Given the description of an element on the screen output the (x, y) to click on. 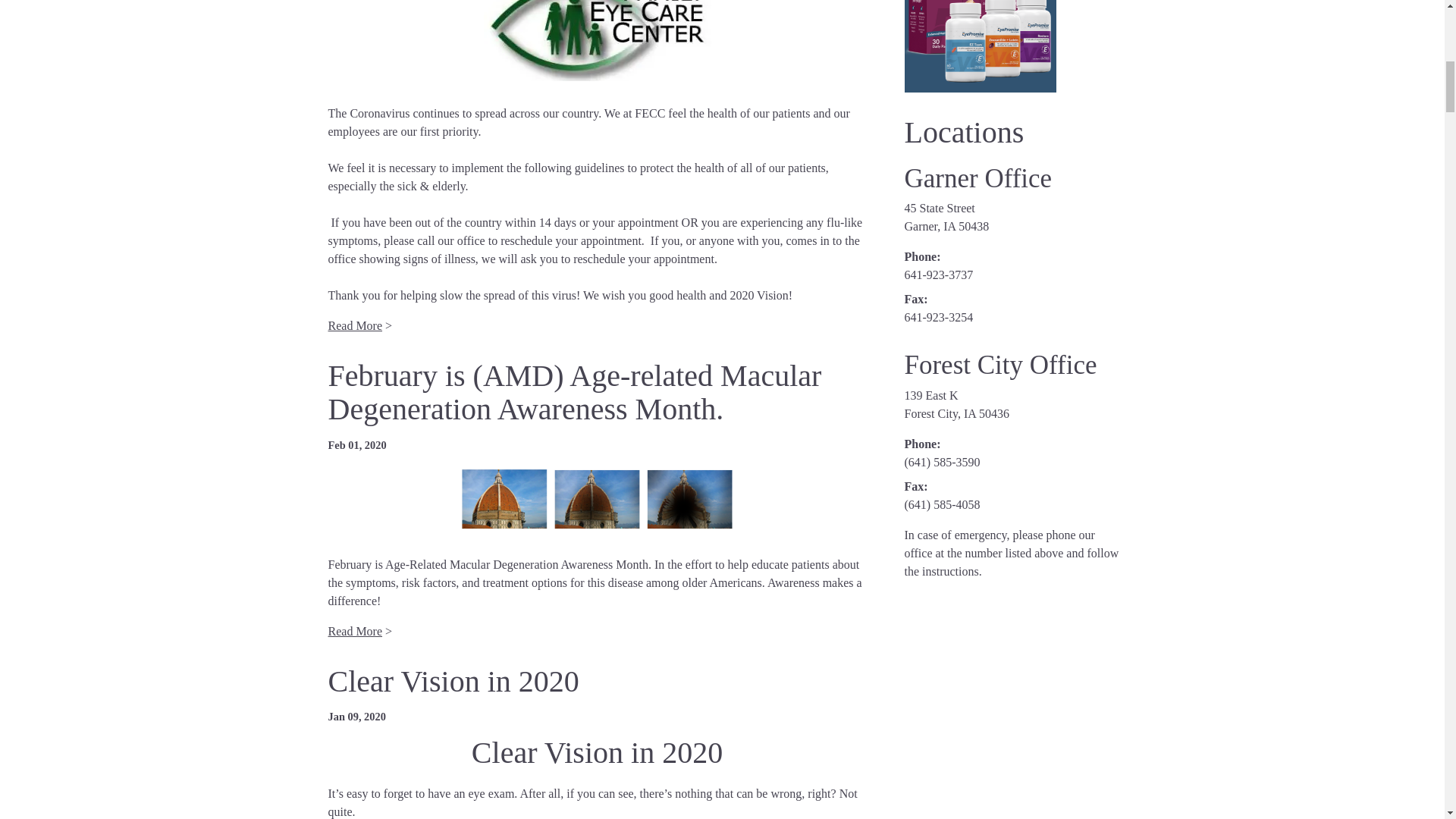
Read More (354, 325)
Read More (354, 631)
Clear Vision in 2020 (452, 681)
